Given the description of an element on the screen output the (x, y) to click on. 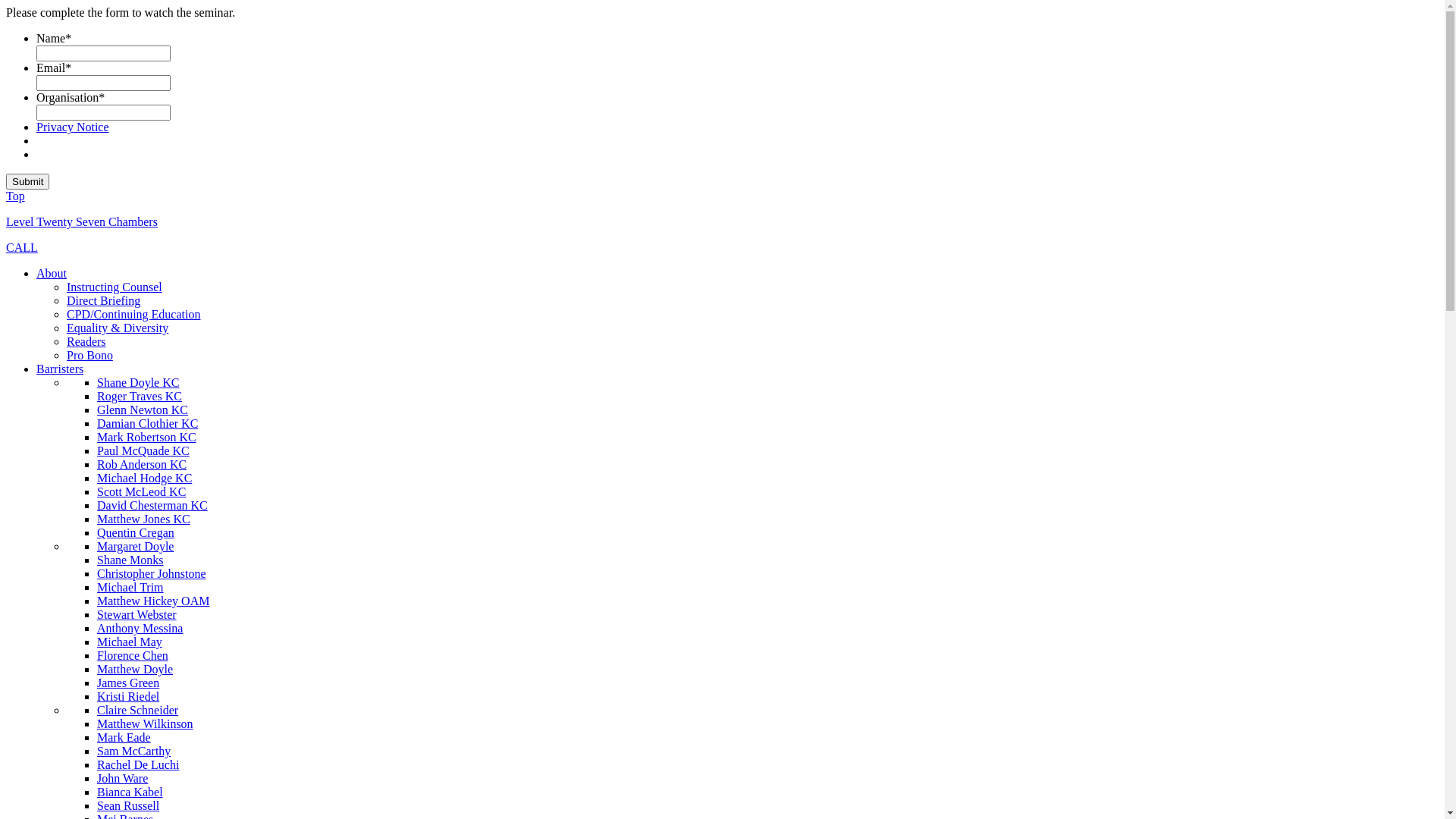
Glenn Newton KC Element type: text (142, 409)
Matthew Doyle Element type: text (134, 668)
Pro Bono Element type: text (89, 354)
Equality & Diversity Element type: text (117, 327)
John Ware Element type: text (122, 777)
Christopher Johnstone Element type: text (151, 573)
Shane Monks Element type: text (130, 559)
CALL Element type: text (21, 247)
Sam McCarthy Element type: text (133, 750)
Matthew Hickey OAM Element type: text (153, 600)
Kristi Riedel Element type: text (128, 696)
James Green Element type: text (128, 682)
Michael Trim Element type: text (130, 586)
Readers Element type: text (86, 341)
Scott McLeod KC Element type: text (141, 491)
David Chesterman KC Element type: text (152, 504)
Margaret Doyle Element type: text (135, 545)
Mark Eade Element type: text (123, 737)
Matthew Wilkinson Element type: text (145, 723)
Stewart Webster Element type: text (136, 614)
Florence Chen Element type: text (132, 655)
Rob Anderson KC Element type: text (141, 464)
Quentin Cregan Element type: text (135, 532)
Mark Robertson KC Element type: text (146, 436)
Sean Russell Element type: text (128, 805)
Rachel De Luchi Element type: text (137, 764)
Matthew Jones KC Element type: text (143, 518)
Michael Hodge KC Element type: text (144, 477)
CPD/Continuing Education Element type: text (133, 313)
Claire Schneider Element type: text (137, 709)
Level Twenty Seven Chambers Element type: text (81, 221)
Instructing Counsel Element type: text (114, 286)
Roger Traves KC Element type: text (139, 395)
Bianca Kabel Element type: text (130, 791)
Shane Doyle KC Element type: text (137, 382)
Damian Clothier KC Element type: text (147, 423)
Submit Element type: text (27, 181)
Anthony Messina Element type: text (139, 627)
Direct Briefing Element type: text (103, 300)
Paul McQuade KC Element type: text (143, 450)
Michael May Element type: text (129, 641)
Barristers Element type: text (59, 368)
About Element type: text (51, 272)
Privacy Notice Element type: text (72, 126)
Top Element type: text (15, 195)
